Given the description of an element on the screen output the (x, y) to click on. 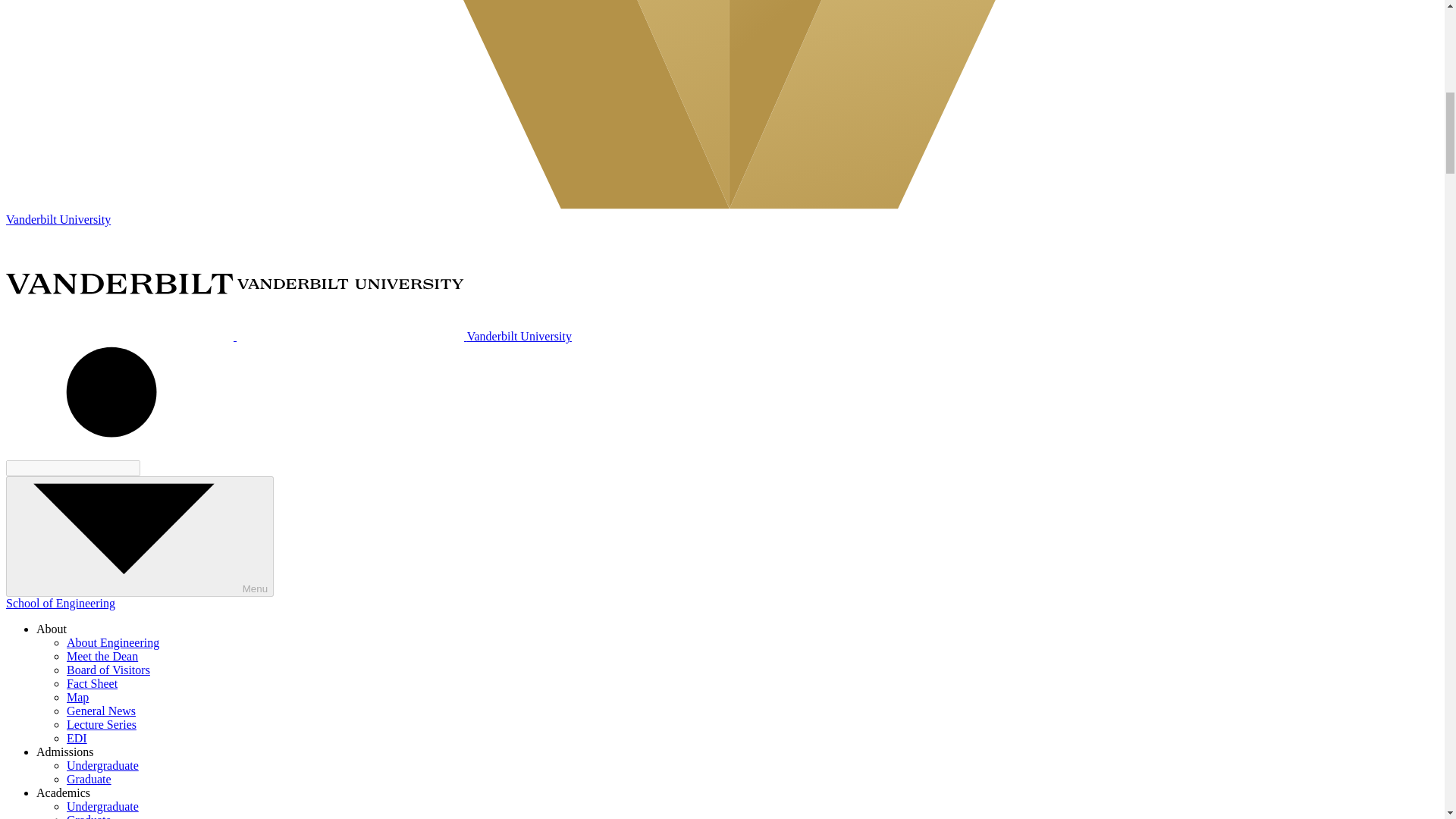
Board of Visitors (107, 669)
Map (77, 697)
Meet the Dean (102, 656)
Lecture Series (101, 724)
EDI (76, 738)
Fact Sheet (91, 683)
Graduate (89, 816)
Academics (63, 792)
School of Engineering (60, 603)
Undergraduate (102, 806)
